Given the description of an element on the screen output the (x, y) to click on. 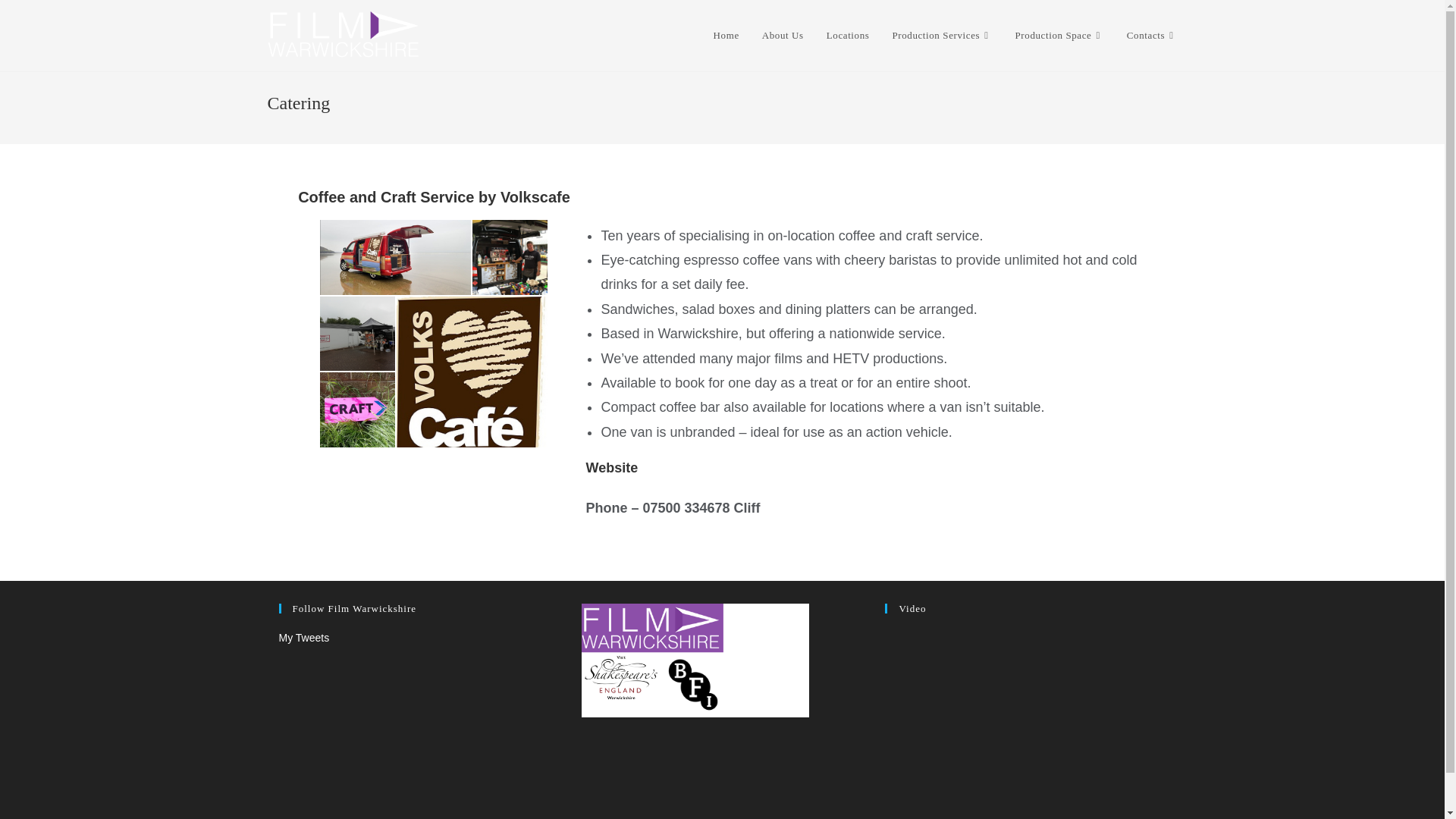
Production Services (941, 35)
Contacts (1152, 35)
About Us (783, 35)
Welcome Back to Shakespeare's England with David Bradley (1025, 707)
Production Space (1059, 35)
Locations (847, 35)
